Given the description of an element on the screen output the (x, y) to click on. 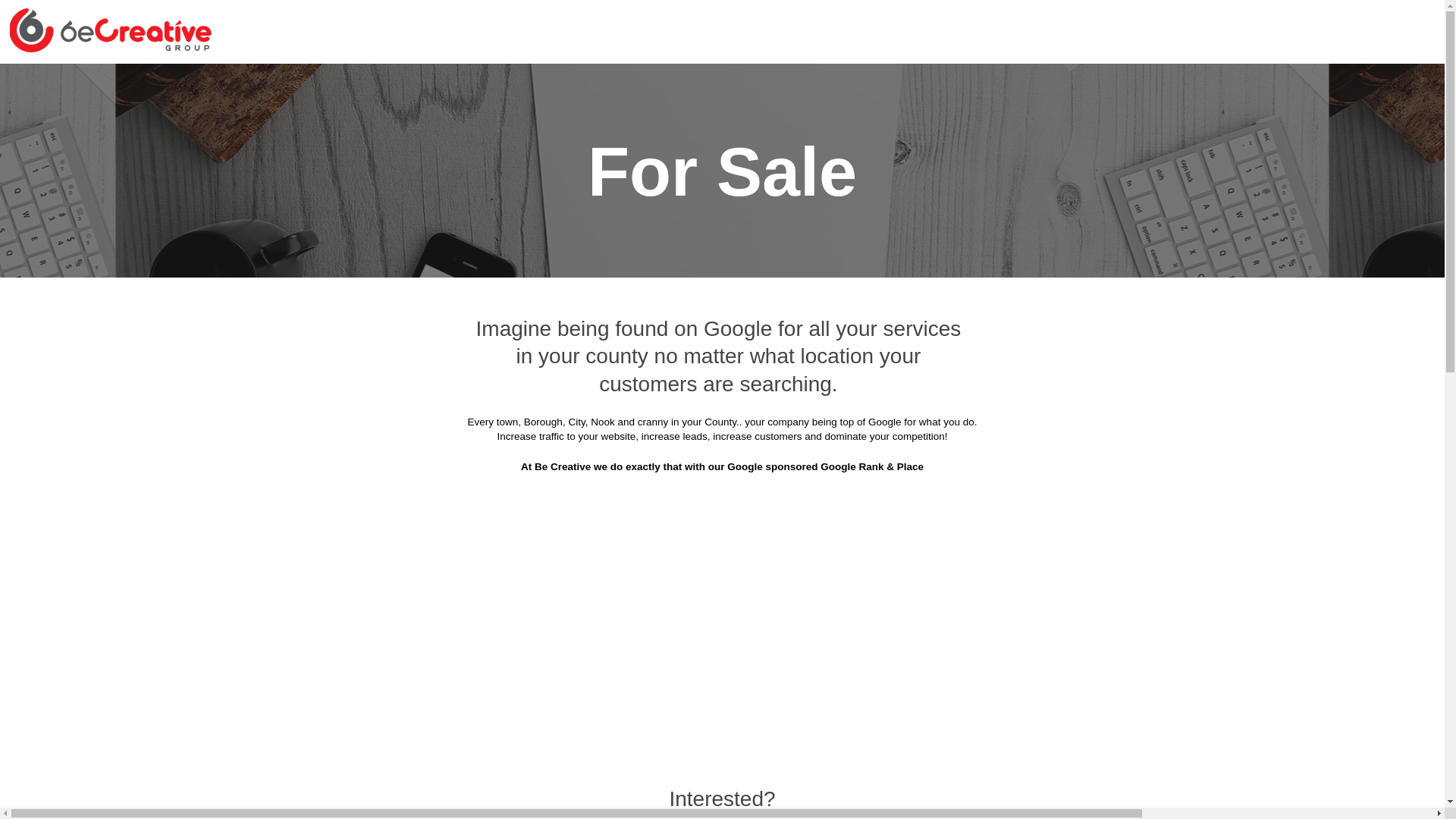
FIRE PROTECTION CHESHIRE (609, 52)
fire extinguisher (955, 321)
